Given the description of an element on the screen output the (x, y) to click on. 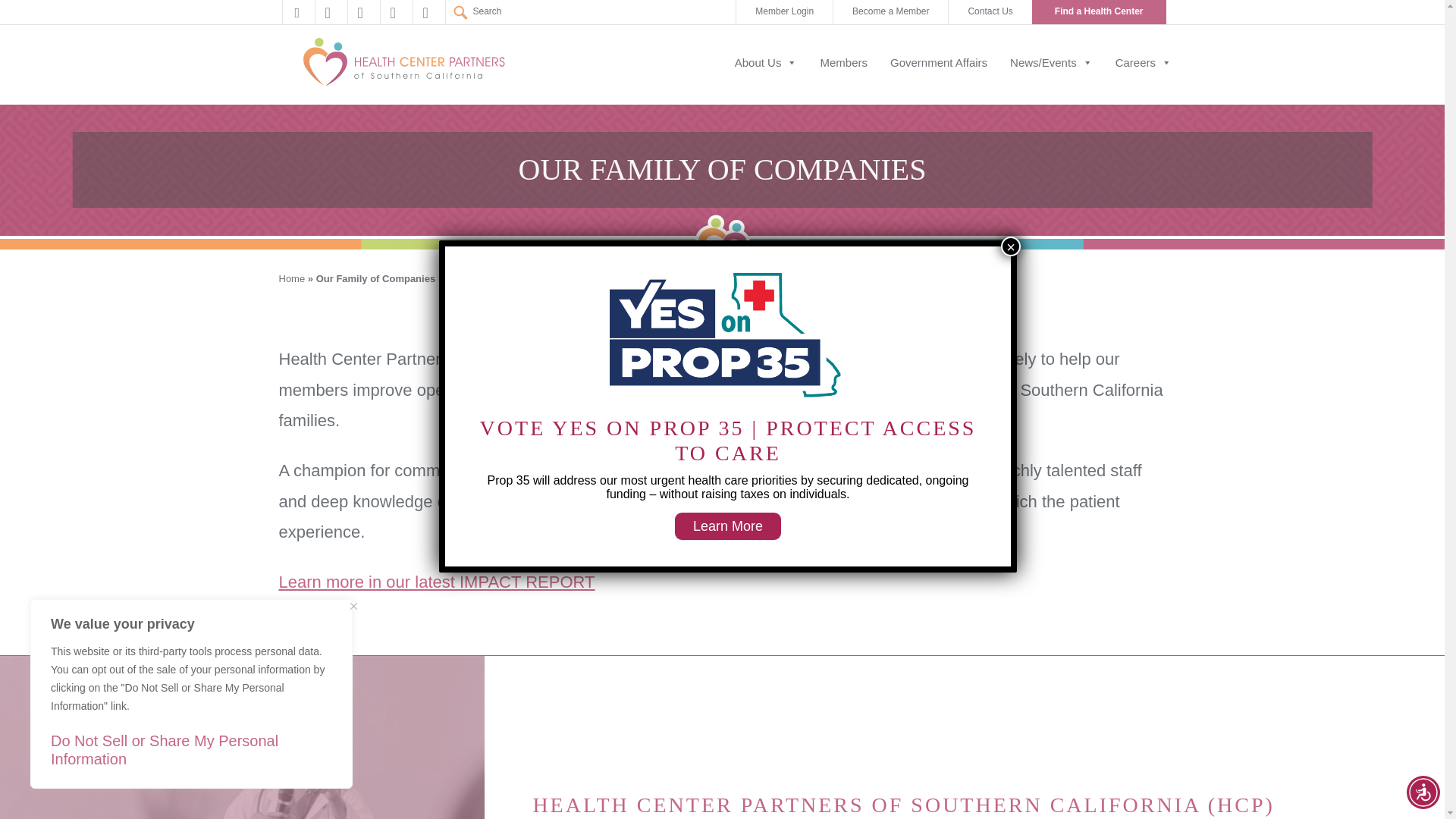
Instagram (428, 12)
HEALTH CENTER PARTNERS OF SOUTHERN CALIFORNIA (402, 63)
YouTube (362, 12)
Members (843, 78)
Find a Health Center (1099, 12)
Government Affairs (938, 78)
Contact Us (989, 12)
About Us (766, 78)
Accessibility Menu (1422, 792)
Facebook (298, 12)
LinkedIn (396, 12)
Become a Member (889, 12)
